Given the description of an element on the screen output the (x, y) to click on. 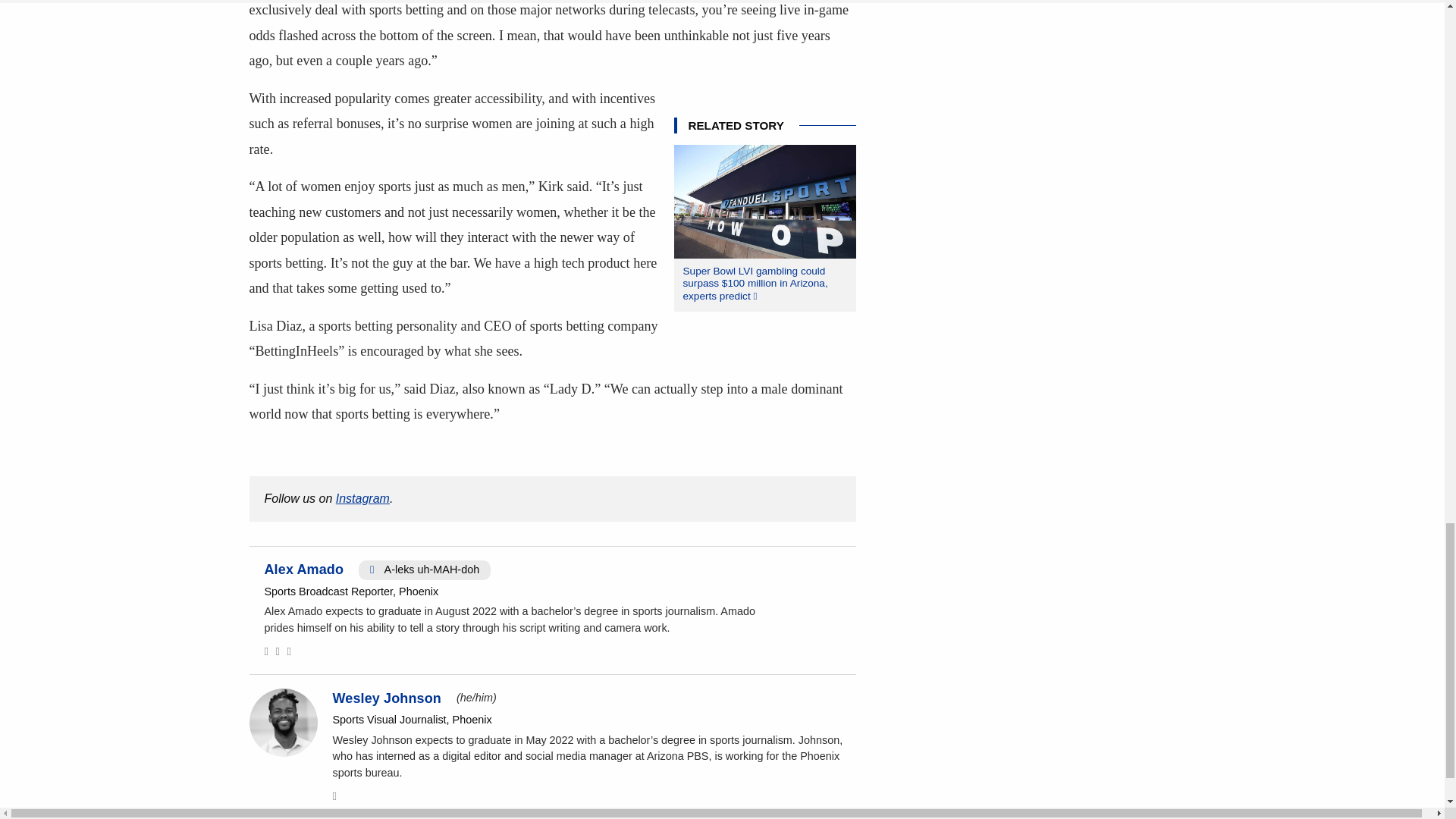
Wesley Johnson (386, 698)
Instagram (363, 498)
Alex Amado (303, 569)
